Given the description of an element on the screen output the (x, y) to click on. 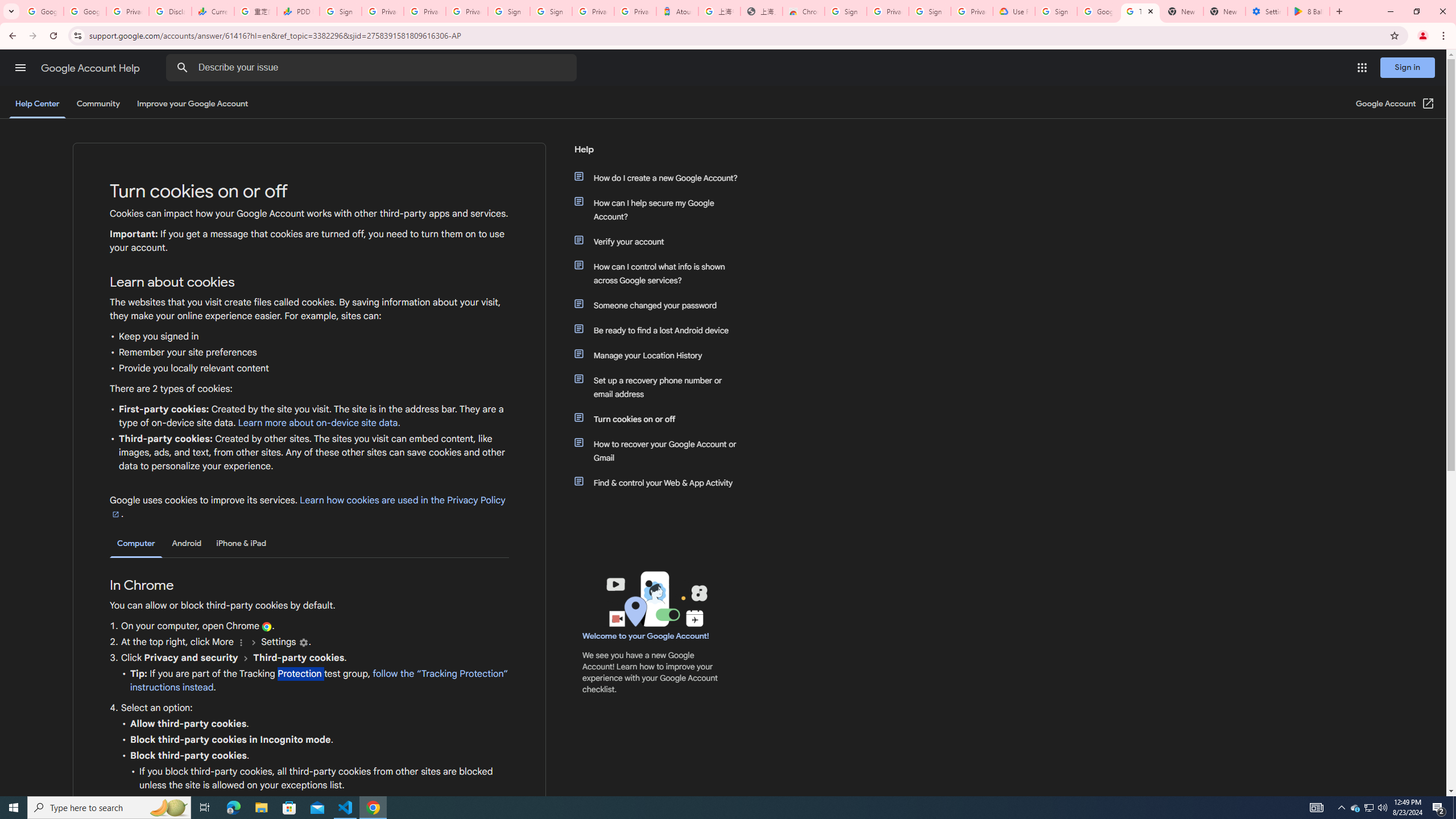
Currencies - Google Finance (212, 11)
Sign in - Google Accounts (930, 11)
Google Account Help (1097, 11)
Someone changed your password (661, 305)
Find & control your Web & App Activity (661, 482)
Improve your Google Account (192, 103)
Turn cookies on or off - Computer - Google Account Help (1139, 11)
How to recover your Google Account or Gmail (661, 450)
